Given the description of an element on the screen output the (x, y) to click on. 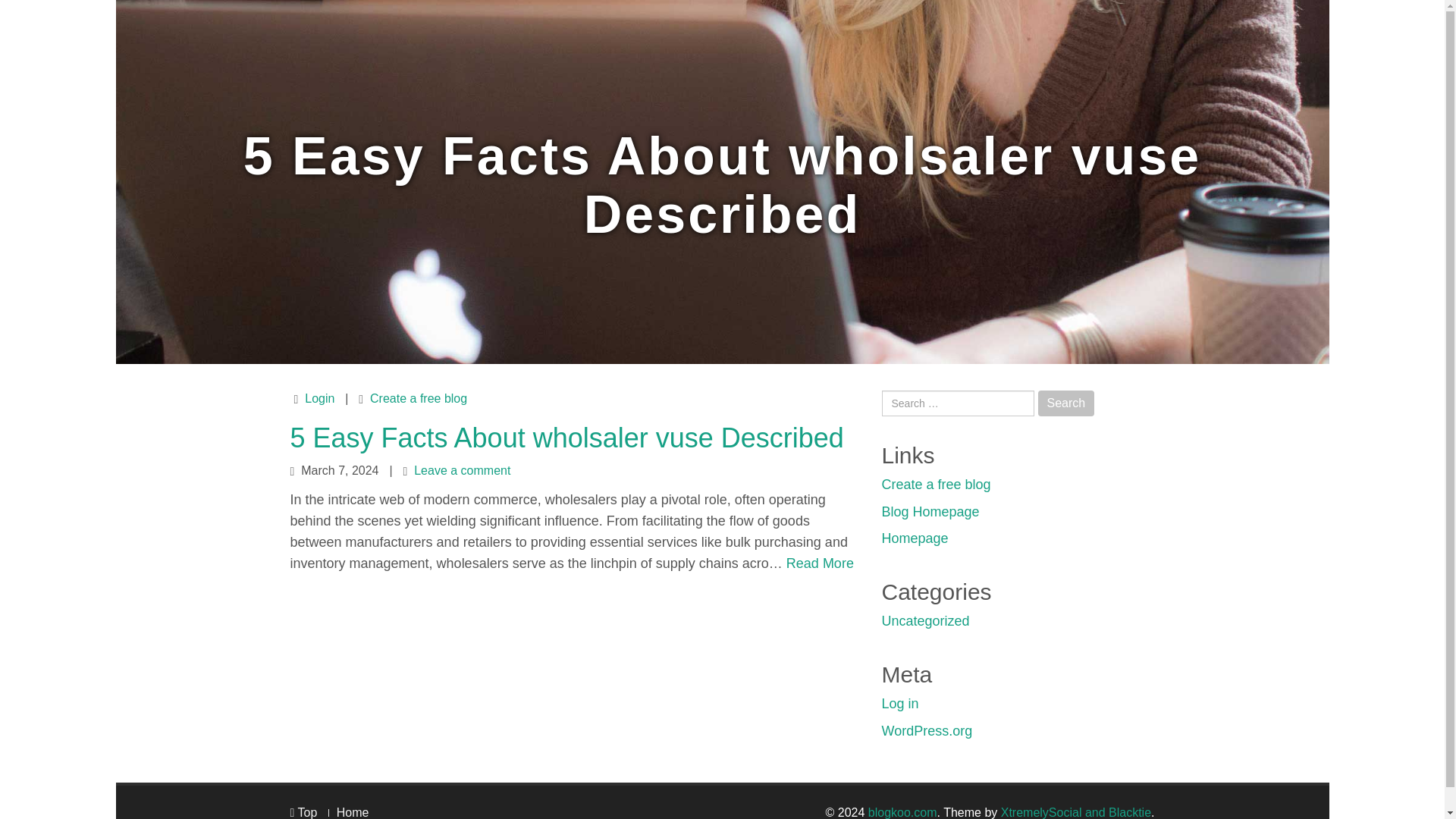
Home (352, 812)
Top (303, 812)
Leave a comment (462, 470)
Homepage (913, 538)
Login (319, 398)
Back to top of page (303, 812)
Read More (819, 563)
Search (1066, 403)
Top (303, 812)
